Given the description of an element on the screen output the (x, y) to click on. 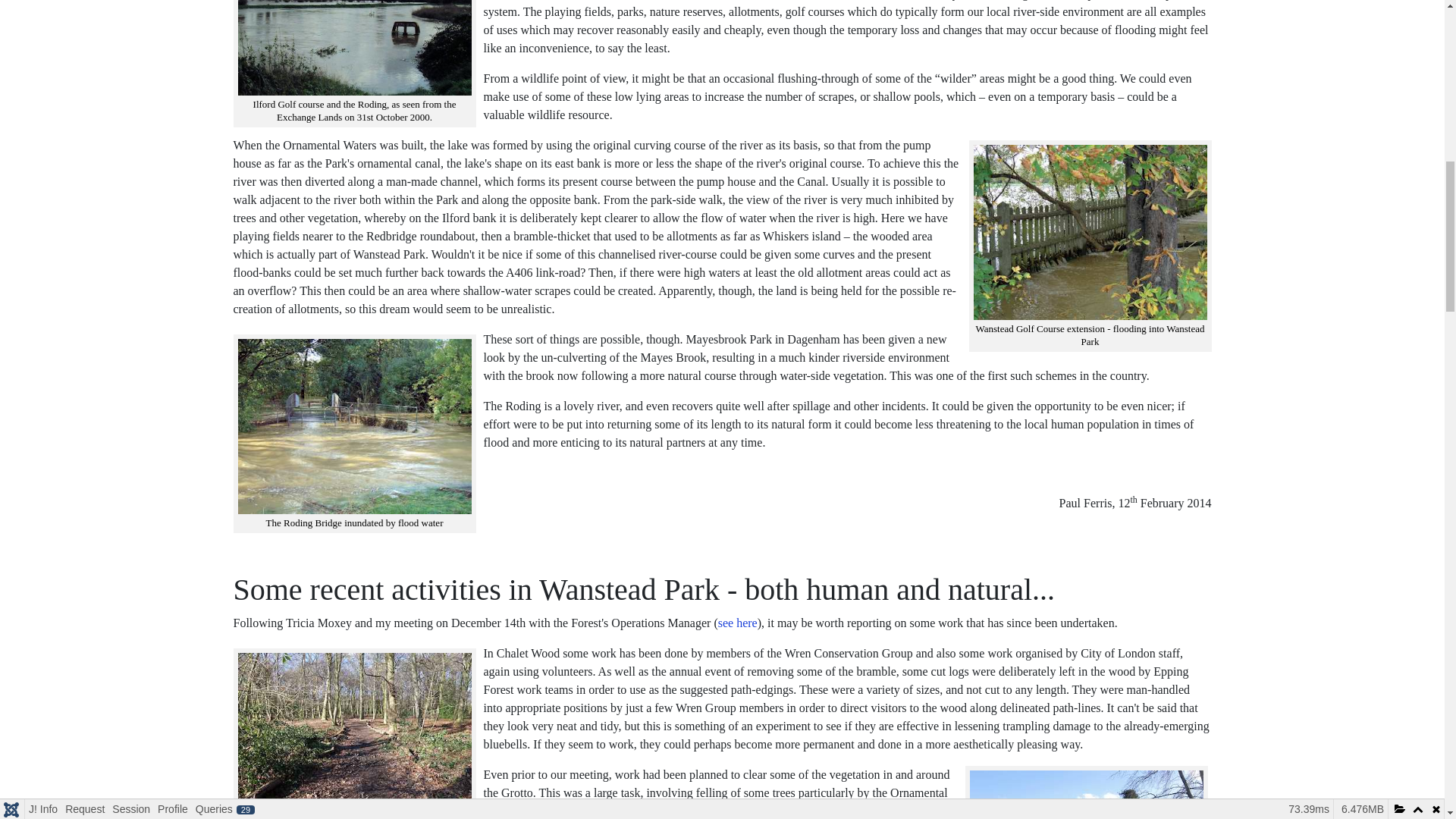
The Grotto, now visible from the west bank (1085, 794)
The Roding Bridge inundated by flood water (354, 426)
Path edging laid down in Chalet Wood (354, 730)
see here (737, 622)
Wanstead Golf Course extension - flooding into Wanstead Park (1090, 232)
